Given the description of an element on the screen output the (x, y) to click on. 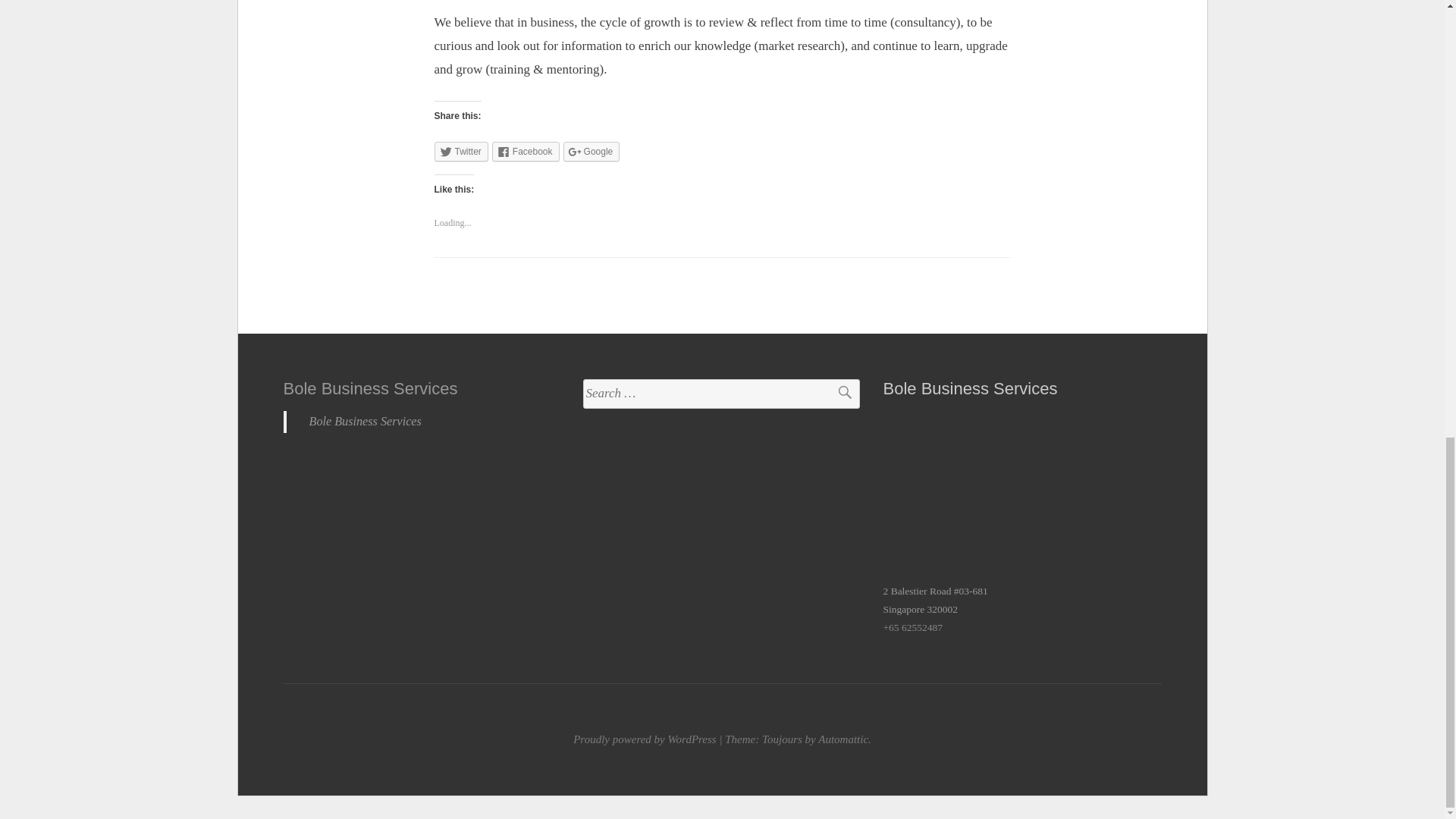
Bole Business Services (370, 388)
Google (591, 151)
Automattic (842, 739)
Facebook (525, 151)
Twitter (460, 151)
Search (836, 393)
Search (836, 393)
Click to share on Facebook (525, 151)
Search (836, 393)
Bole Business Services (365, 421)
Click to share on Twitter (460, 151)
Proudly powered by WordPress (644, 739)
